Given the description of an element on the screen output the (x, y) to click on. 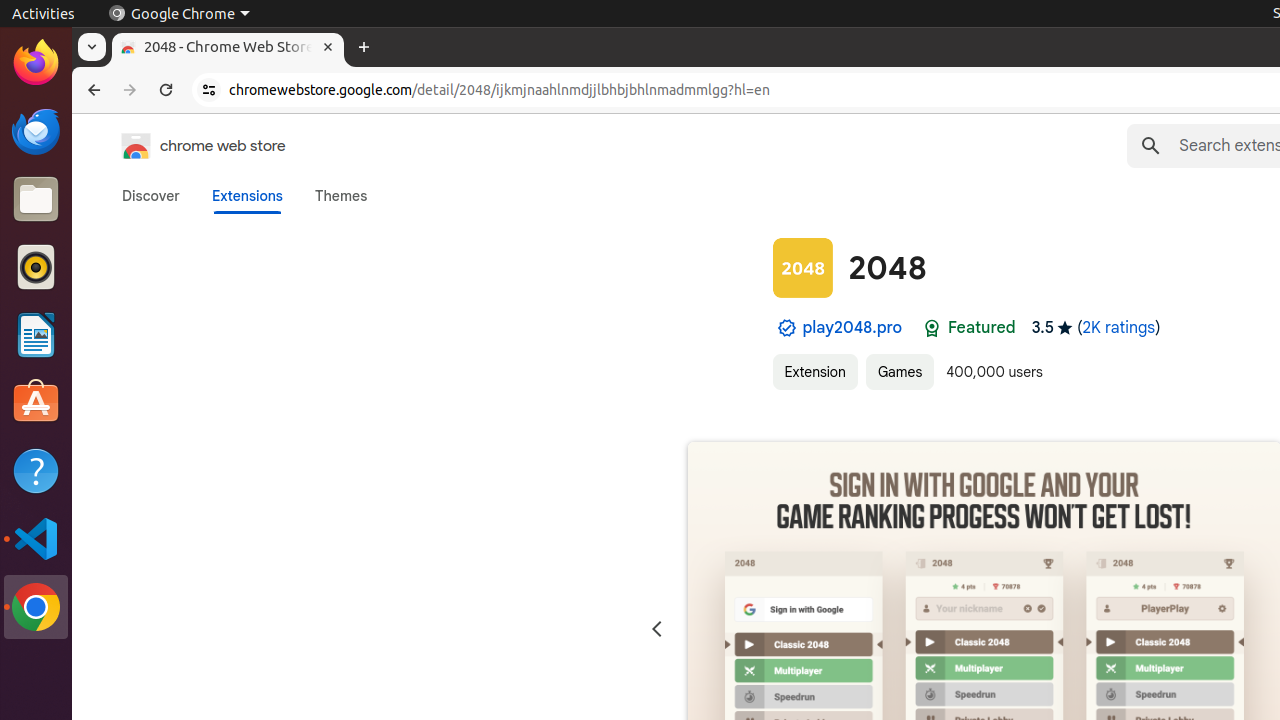
By Established Publisher Badge Element type: push-button (786, 328)
Visual Studio Code Element type: push-button (36, 538)
Extension Element type: link (815, 372)
Help Element type: push-button (36, 470)
LibreOffice Writer Element type: push-button (36, 334)
